Given the description of an element on the screen output the (x, y) to click on. 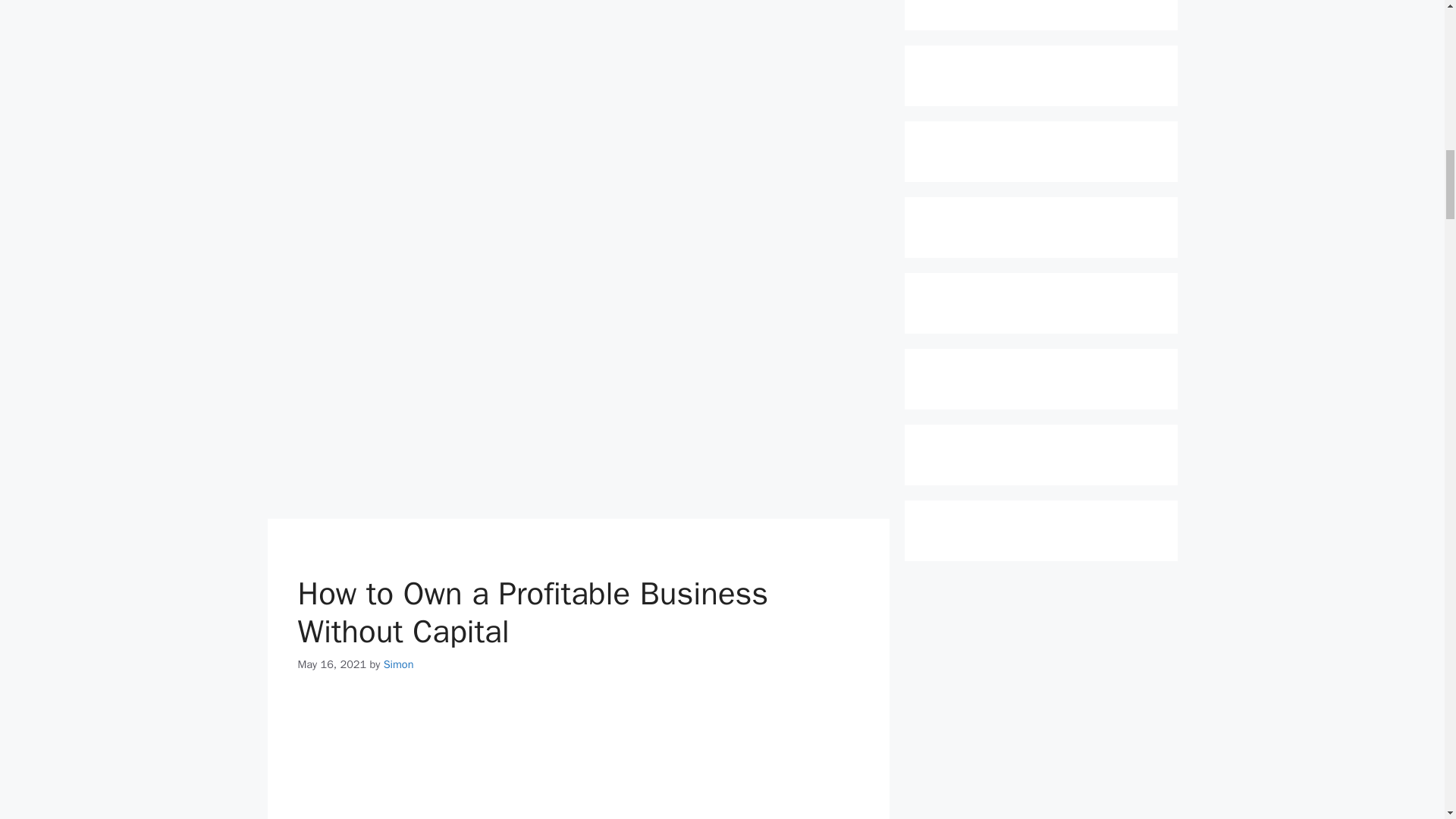
Simon (398, 663)
View all posts by Simon (398, 663)
